Given the description of an element on the screen output the (x, y) to click on. 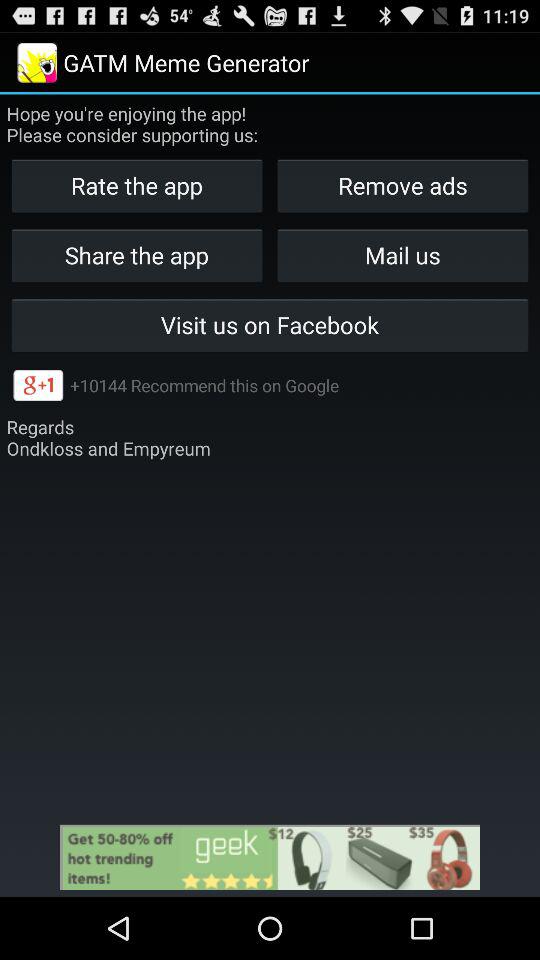
select the item to the right of the rate the app item (402, 254)
